Given the description of an element on the screen output the (x, y) to click on. 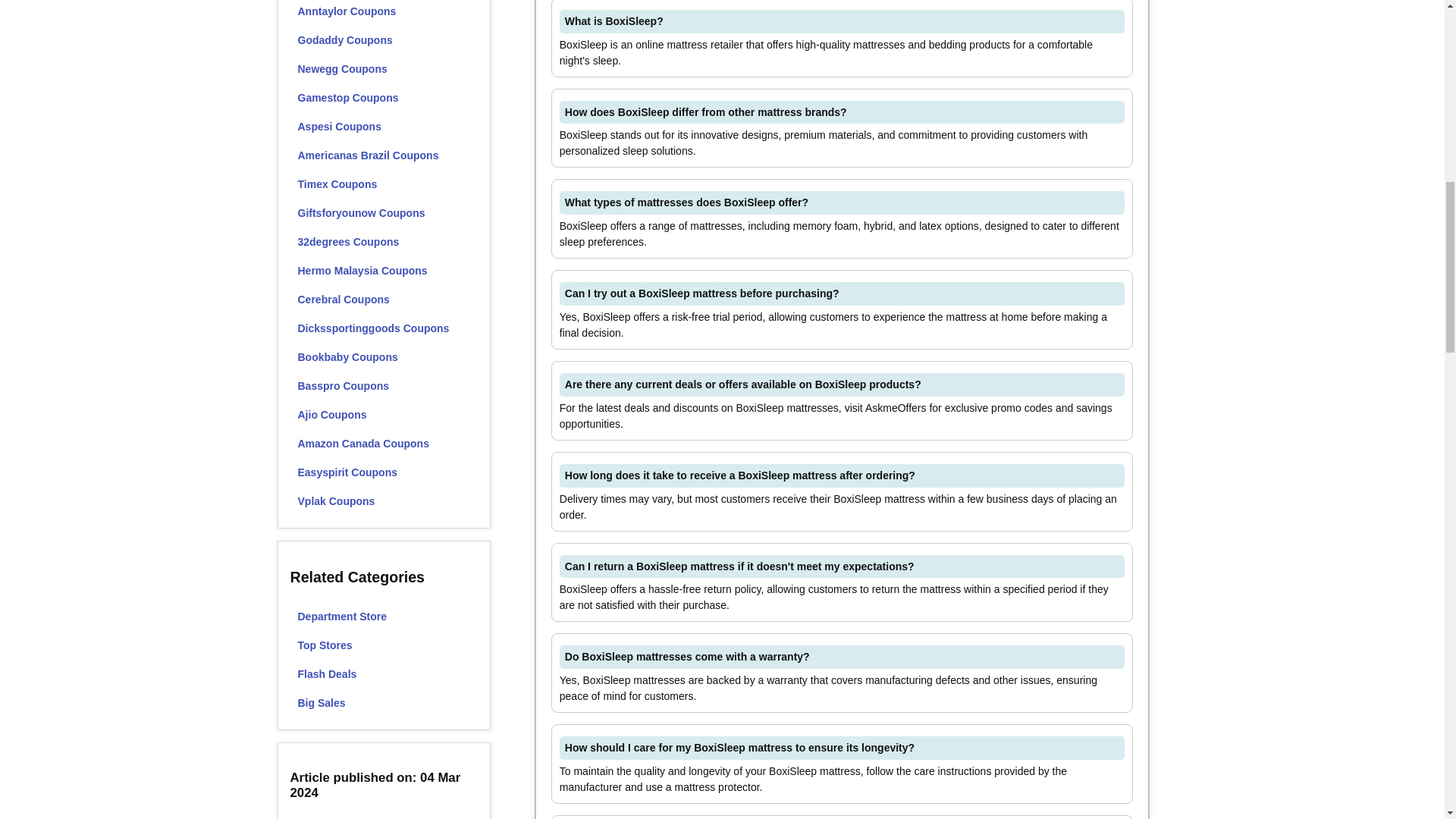
Godaddy Coupons (383, 39)
Anntaylor Coupons (383, 12)
